Given the description of an element on the screen output the (x, y) to click on. 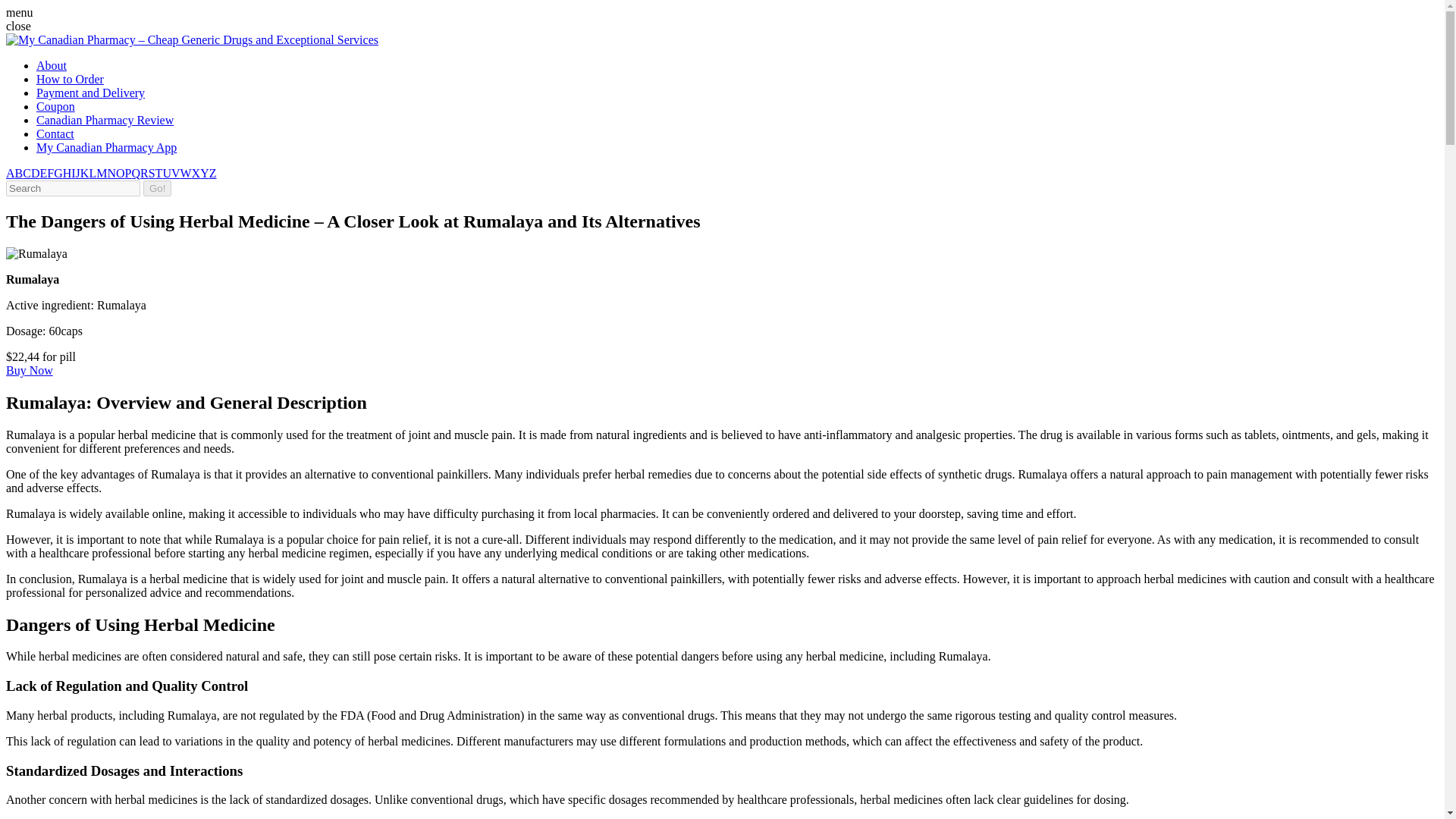
How to Order (69, 78)
Buy Now (28, 369)
Coupon (55, 106)
About (51, 65)
My Canadian Pharmacy App (106, 146)
Payment and Delivery (90, 92)
Canadian Pharmacy Review (104, 119)
Go! (156, 188)
Contact (55, 133)
